Given the description of an element on the screen output the (x, y) to click on. 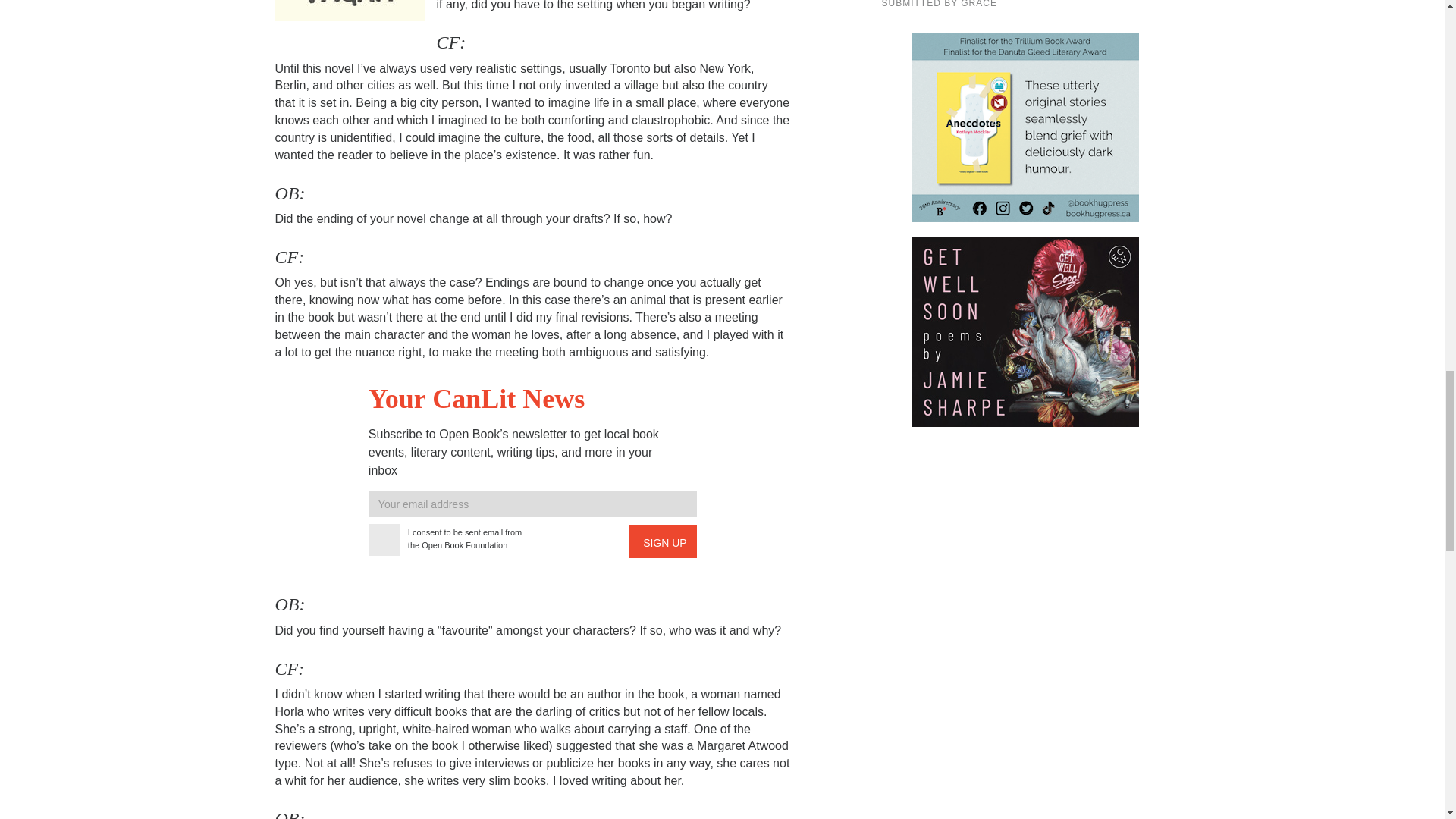
SIGN UP (662, 540)
